Given the description of an element on the screen output the (x, y) to click on. 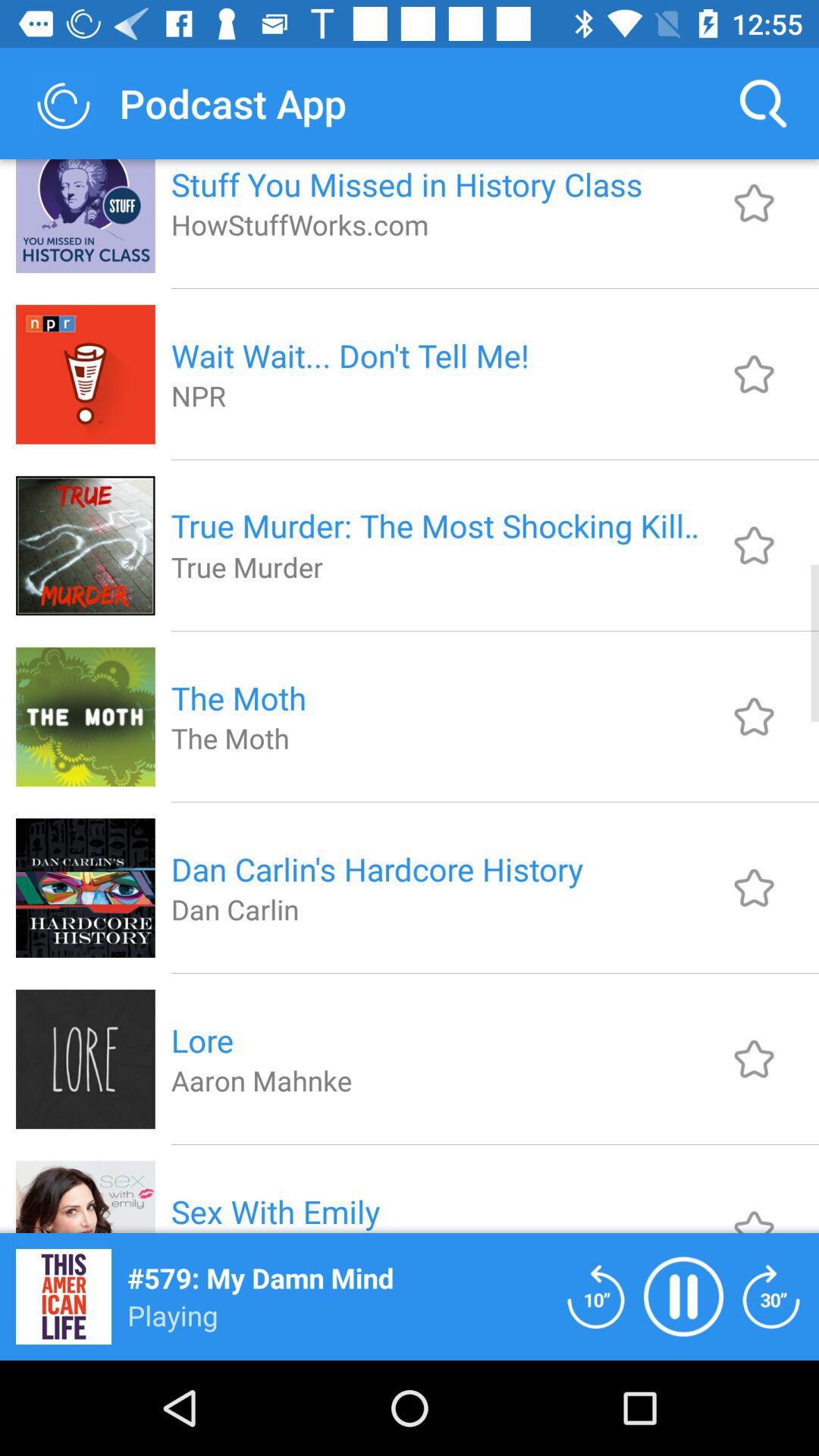
save (754, 374)
